Given the description of an element on the screen output the (x, y) to click on. 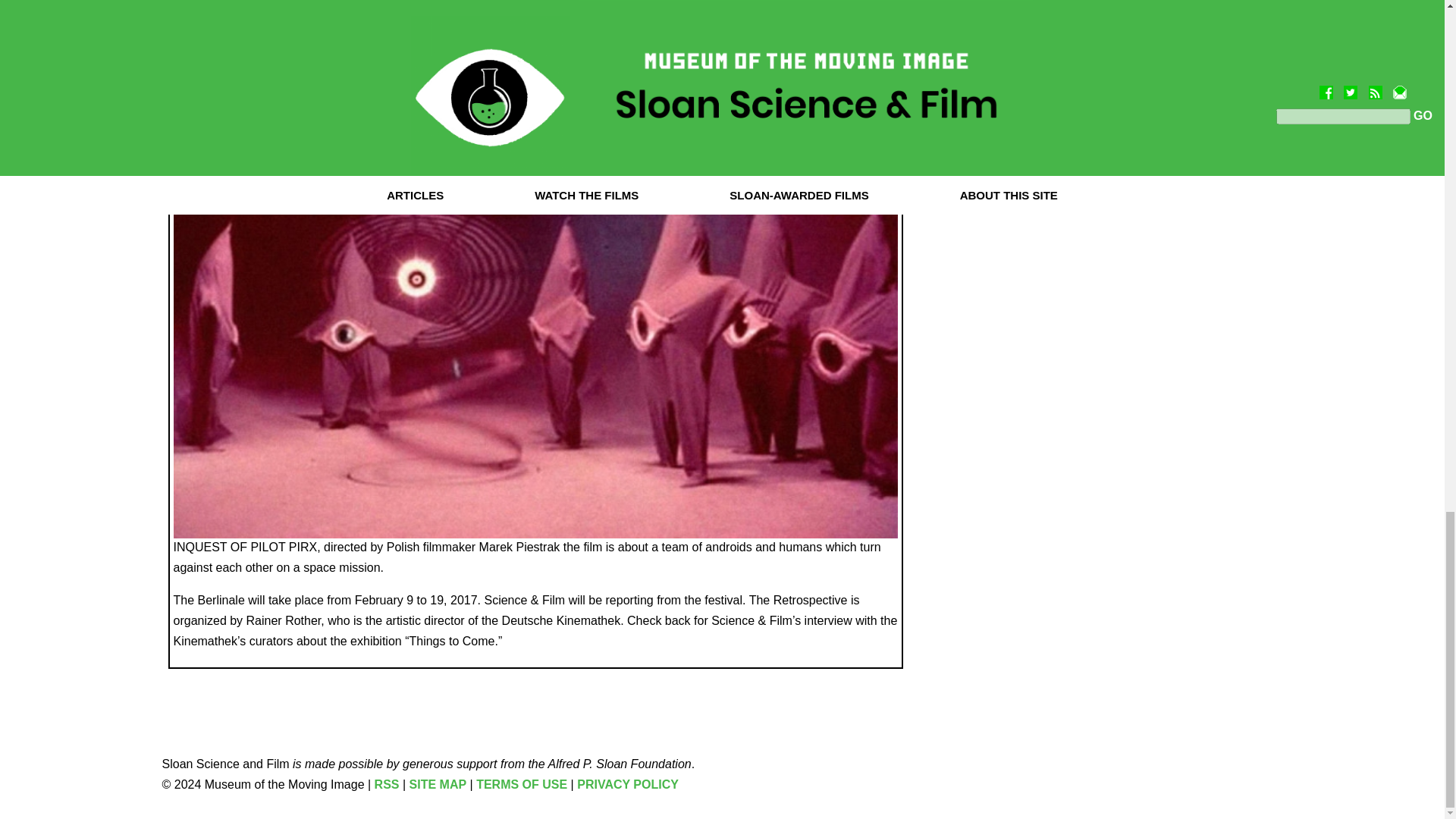
PRIVACY POLICY (627, 784)
TERMS OF USE (521, 784)
RSS (386, 784)
SITE MAP (438, 784)
